Given the description of an element on the screen output the (x, y) to click on. 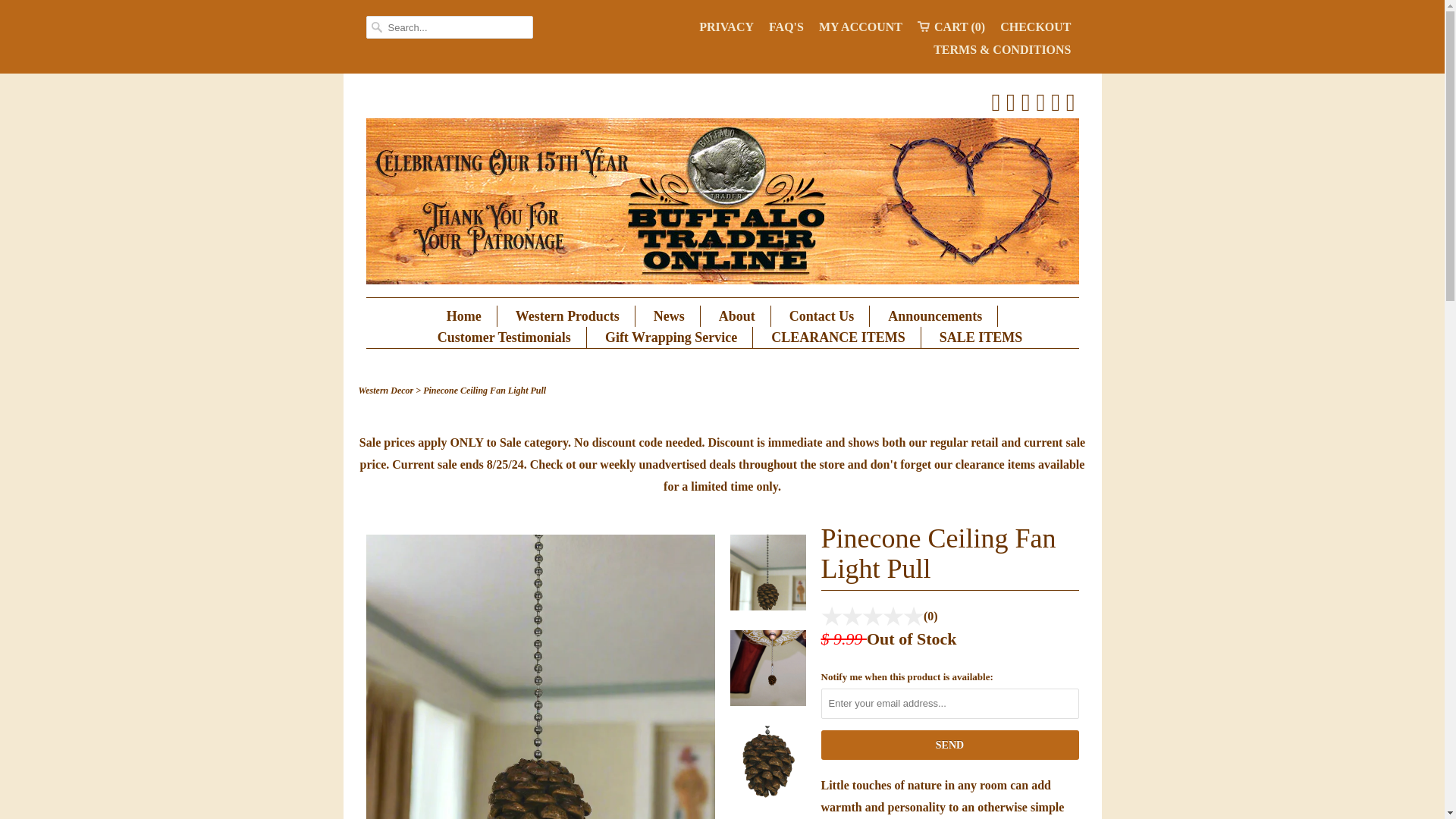
Shopping Cart (951, 26)
Checkout (1035, 26)
Contact Us (821, 315)
FAQ'S (785, 26)
MY ACCOUNT (860, 26)
FAQ's (785, 26)
Buffalo Trader Online (721, 203)
About (737, 315)
SALE ITEMS (981, 337)
Gift Wrapping Service (670, 337)
Home (463, 315)
Customer Testimonials (504, 337)
PRIVACY (726, 26)
Sale category (533, 441)
News (668, 315)
